Given the description of an element on the screen output the (x, y) to click on. 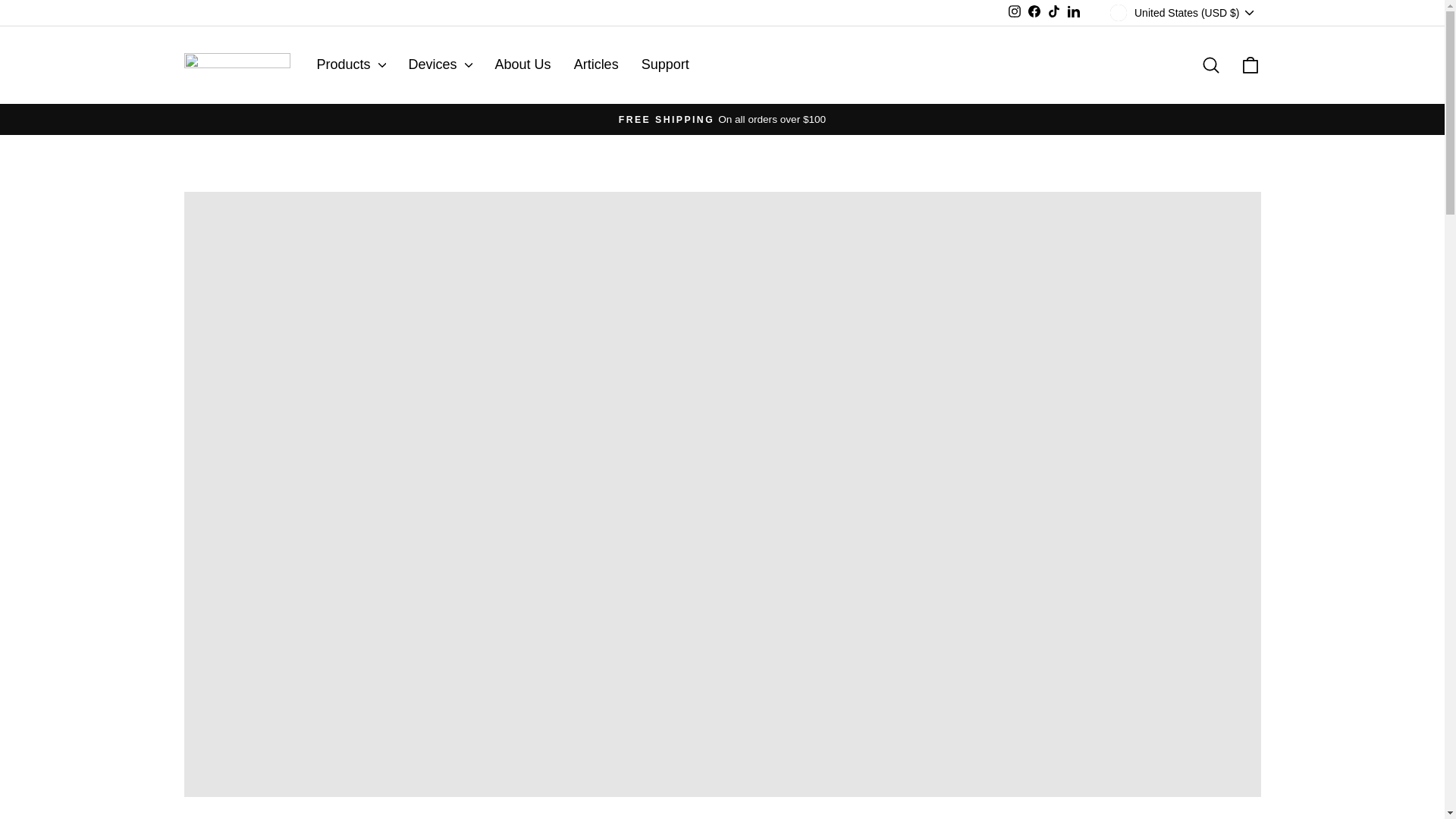
icon-bag-minimal (1249, 65)
icon-search (1210, 65)
instagram (1014, 10)
